Given the description of an element on the screen output the (x, y) to click on. 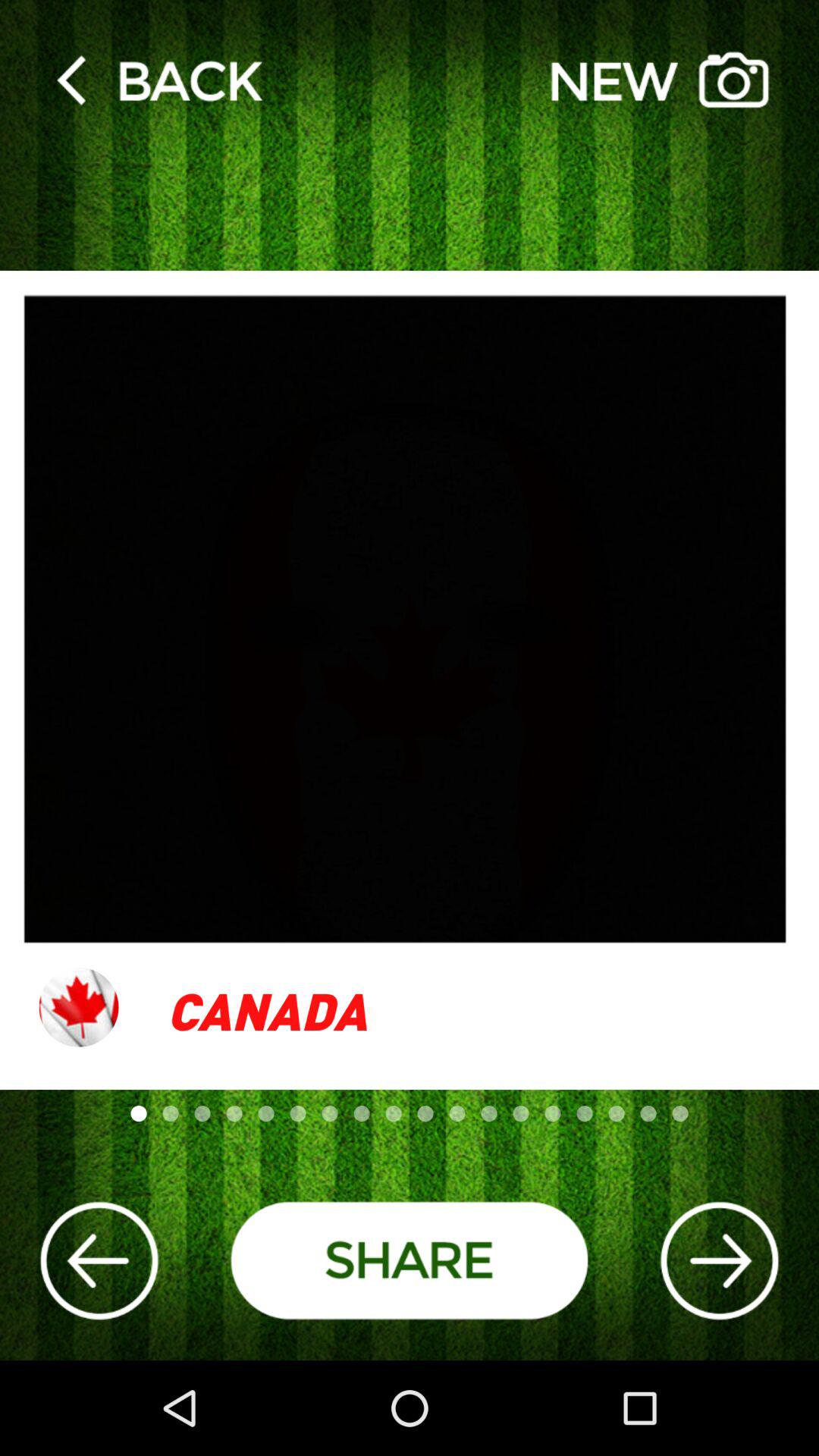
add a new photo (659, 79)
